Given the description of an element on the screen output the (x, y) to click on. 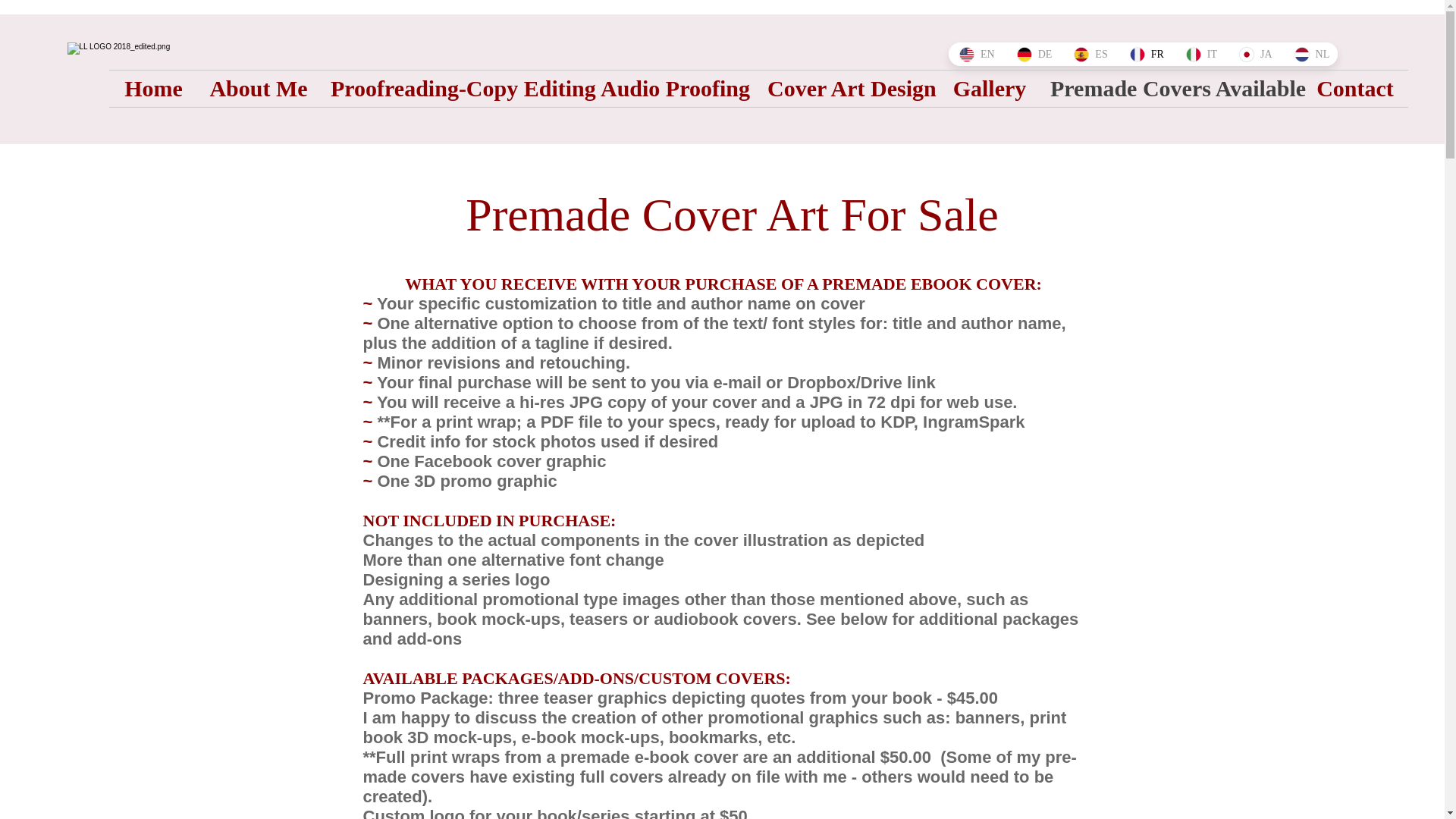
Audio Proofing (672, 88)
ES (1090, 54)
Contact (1354, 88)
DE (1034, 54)
EN (977, 54)
IT (1200, 54)
JA (1254, 54)
Gallery (989, 88)
Premade Covers Available (1170, 88)
Cover Art Design (847, 88)
FR (1146, 54)
About Me (258, 88)
Proofreading-Copy Editing (453, 88)
Home (153, 88)
NL (1311, 54)
